Given the description of an element on the screen output the (x, y) to click on. 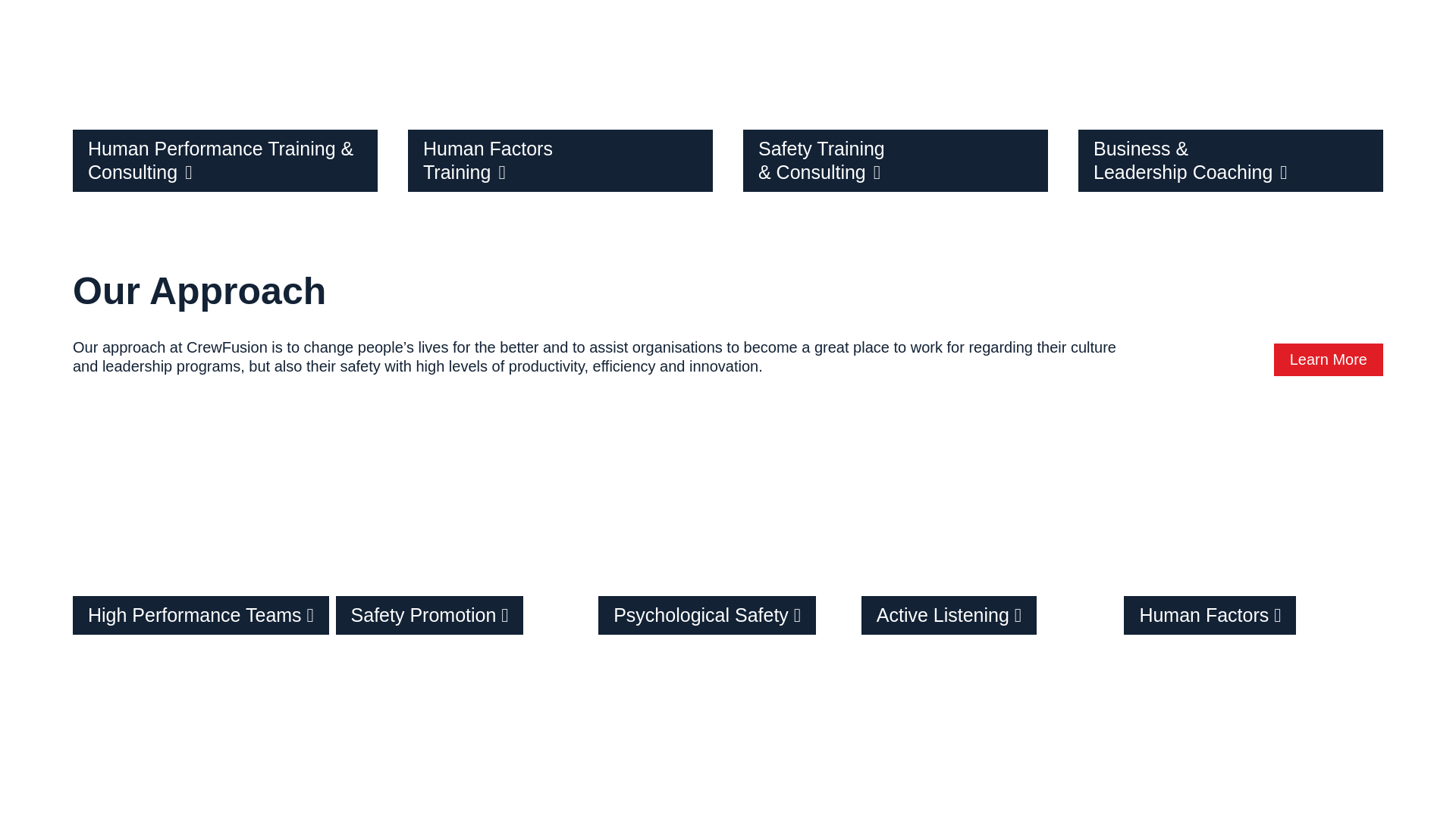
Trusting Teams (465, 744)
Safety Promotion (465, 535)
Resilience (201, 744)
High Performance Teams  (201, 535)
Human Factors Training (560, 110)
Psychological Safety (727, 535)
Emotional Intelligence (991, 744)
Safety Differently (1253, 744)
Human Factors (1253, 535)
Active Listening (991, 535)
